Given the description of an element on the screen output the (x, y) to click on. 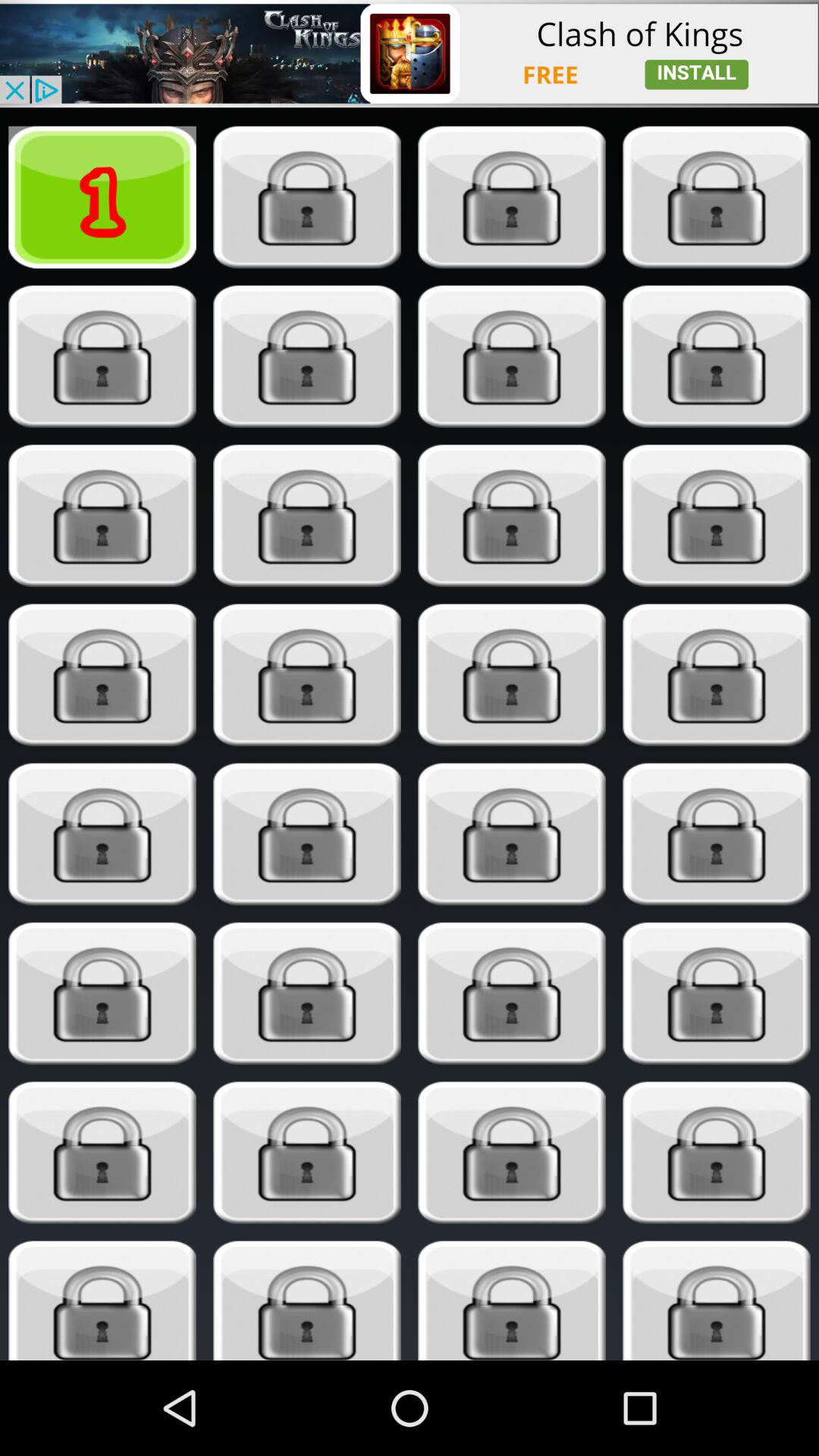
click to unlock (102, 834)
